Given the description of an element on the screen output the (x, y) to click on. 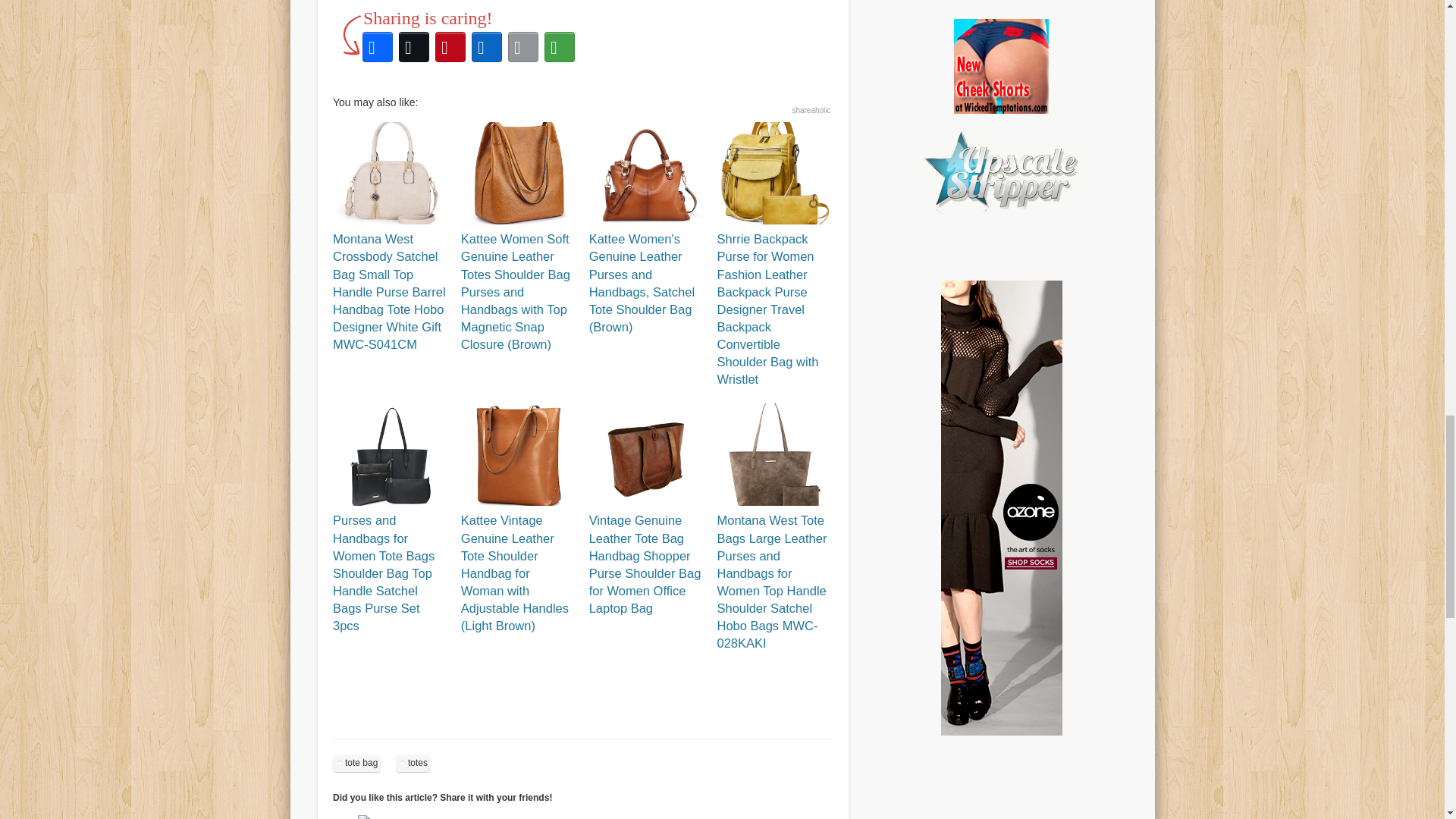
Email This (523, 46)
More Options (559, 46)
Pinterest (450, 46)
Website Tools by Shareaholic (810, 110)
Pin It (374, 816)
LinkedIn (486, 46)
Facebook (377, 46)
